Given the description of an element on the screen output the (x, y) to click on. 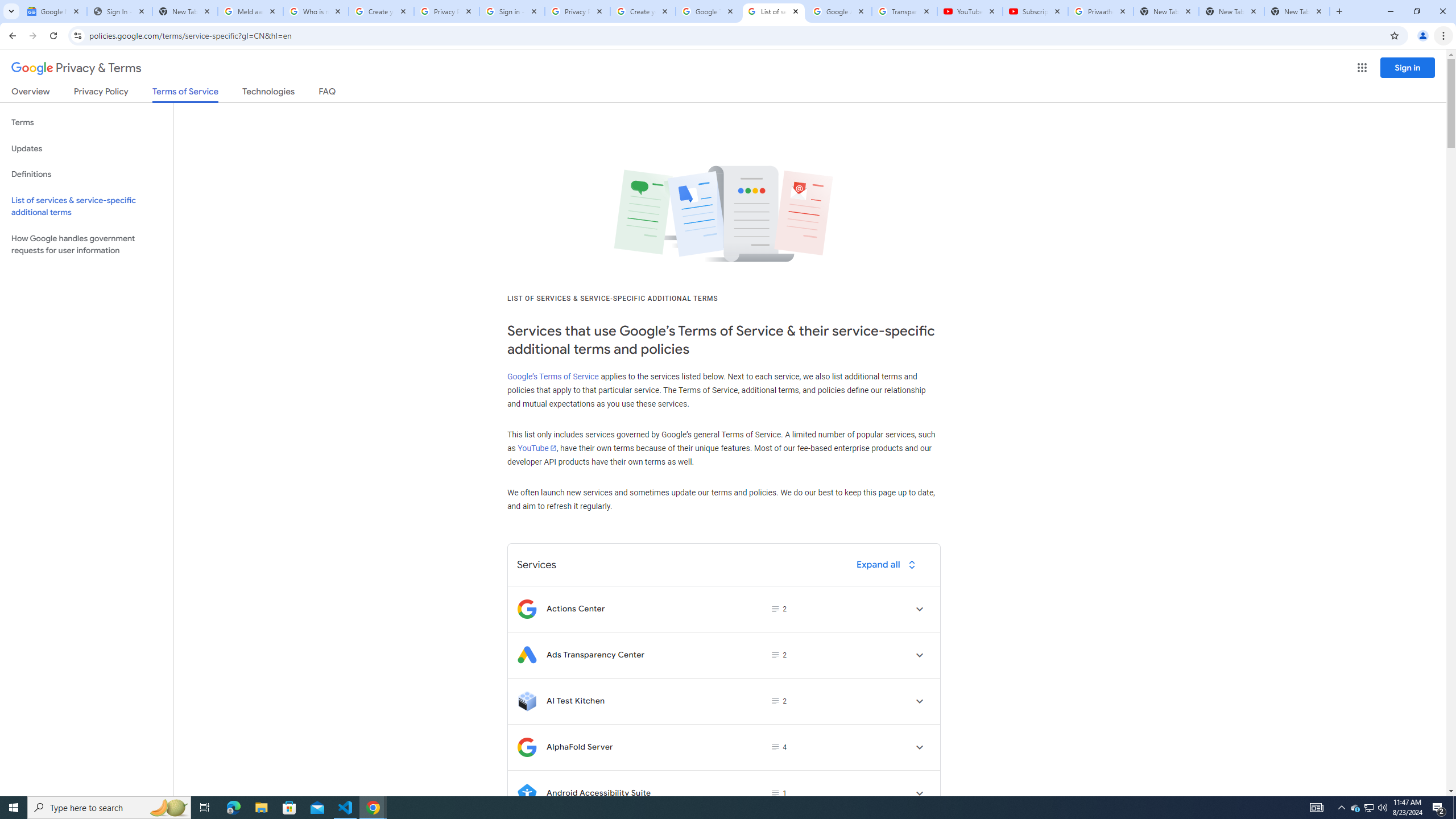
Who is my administrator? - Google Account Help (315, 11)
Create your Google Account (643, 11)
Google Account (838, 11)
Expand all (888, 564)
Logo for Ads Transparency Center (526, 654)
YouTube (536, 447)
Logo for AI Test Kitchen (526, 700)
